Given the description of an element on the screen output the (x, y) to click on. 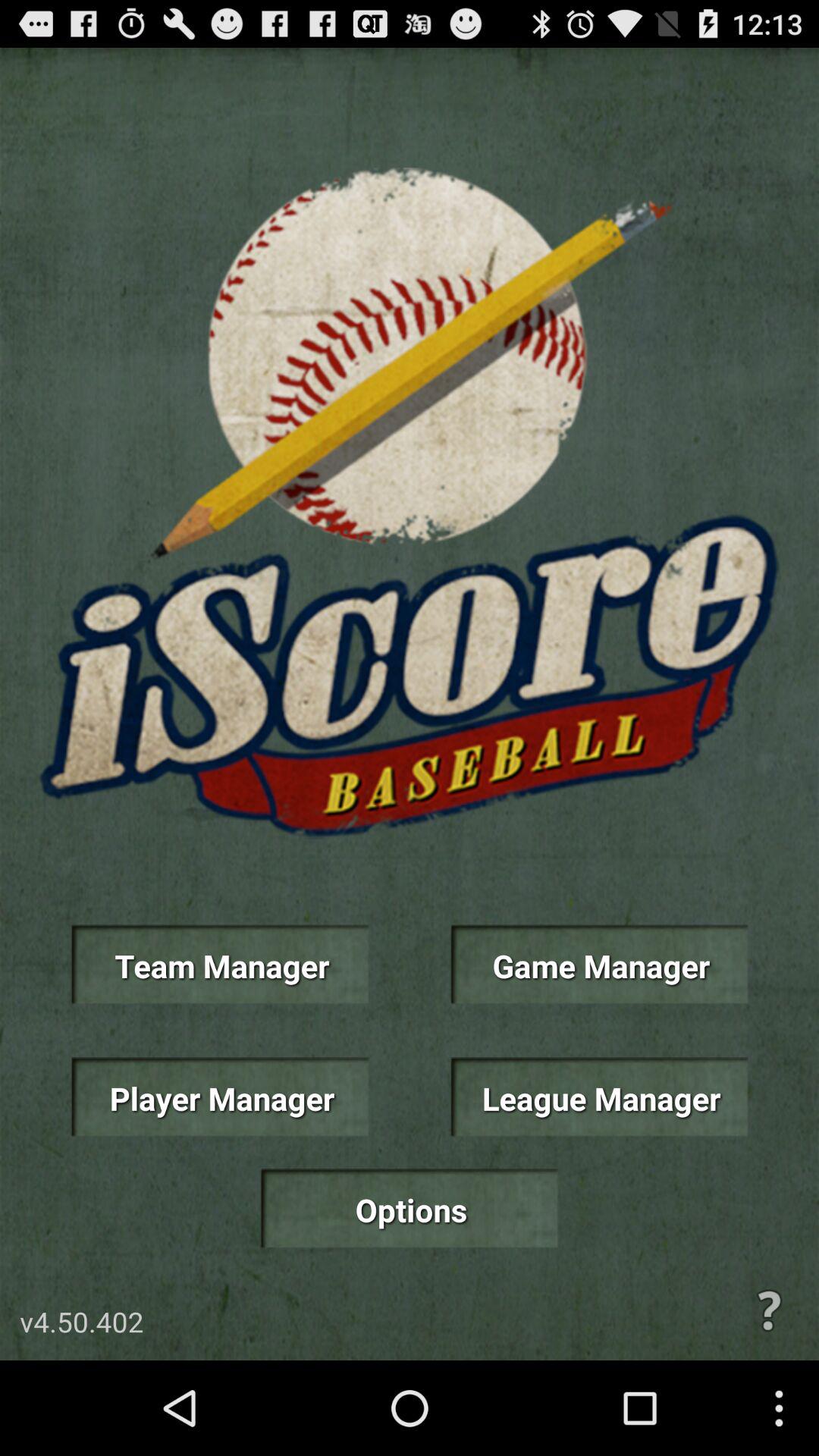
turn off the icon below league manager button (769, 1310)
